Given the description of an element on the screen output the (x, y) to click on. 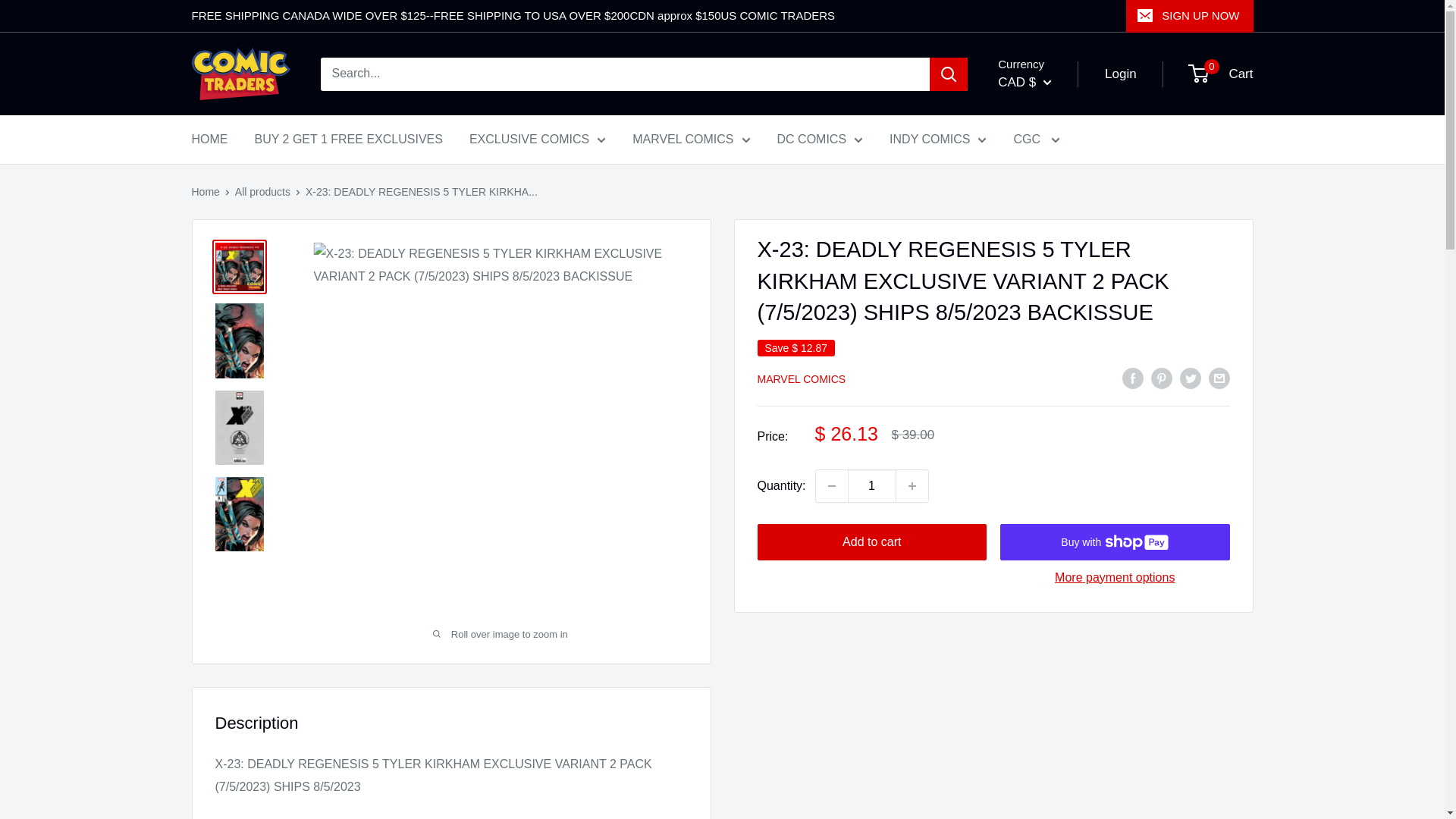
1 (871, 486)
Decrease quantity by 1 (831, 486)
Increase quantity by 1 (912, 486)
SIGN UP NOW (1188, 15)
